Given the description of an element on the screen output the (x, y) to click on. 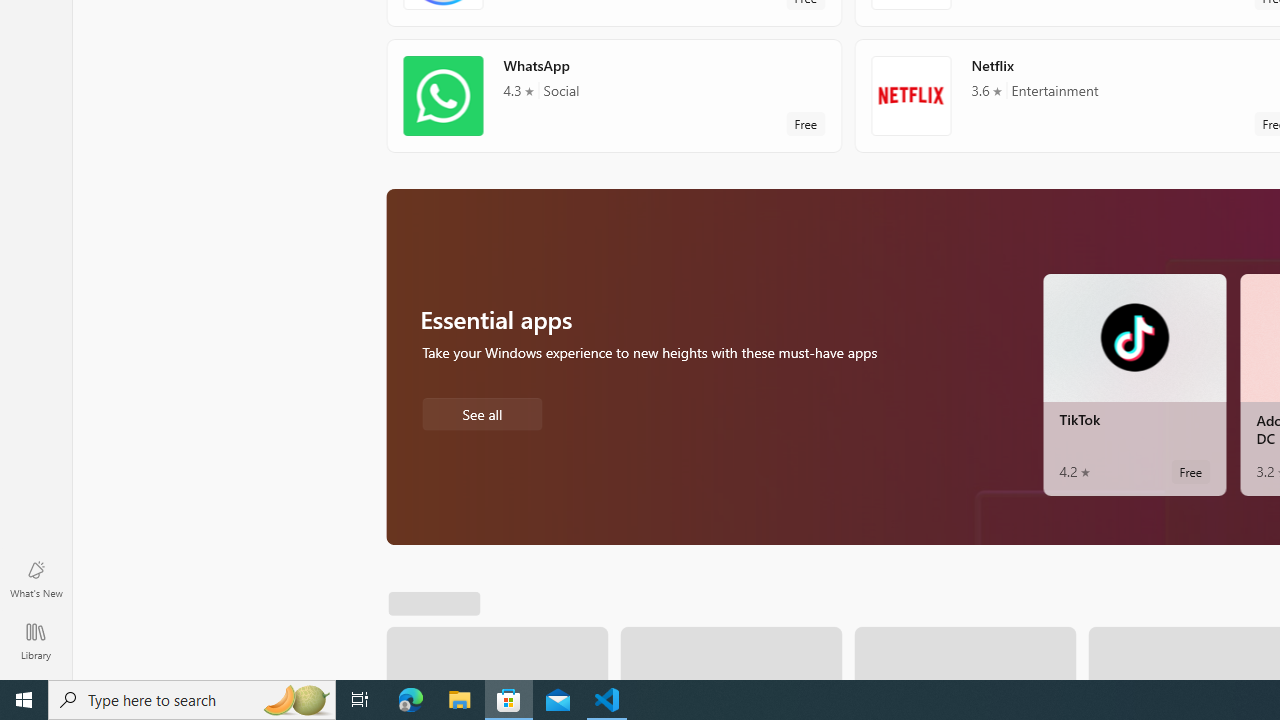
See all  Essential apps (481, 412)
AutomationID: SectionViewAllButton (409, 600)
What's New (35, 578)
Library (35, 640)
WhatsApp. Average rating of 4.3 out of five stars. Free   (614, 95)
Class: Hyperlink (402, 600)
TikTok. Average rating of 4.2 out of five stars. Free   (1134, 384)
